Given the description of an element on the screen output the (x, y) to click on. 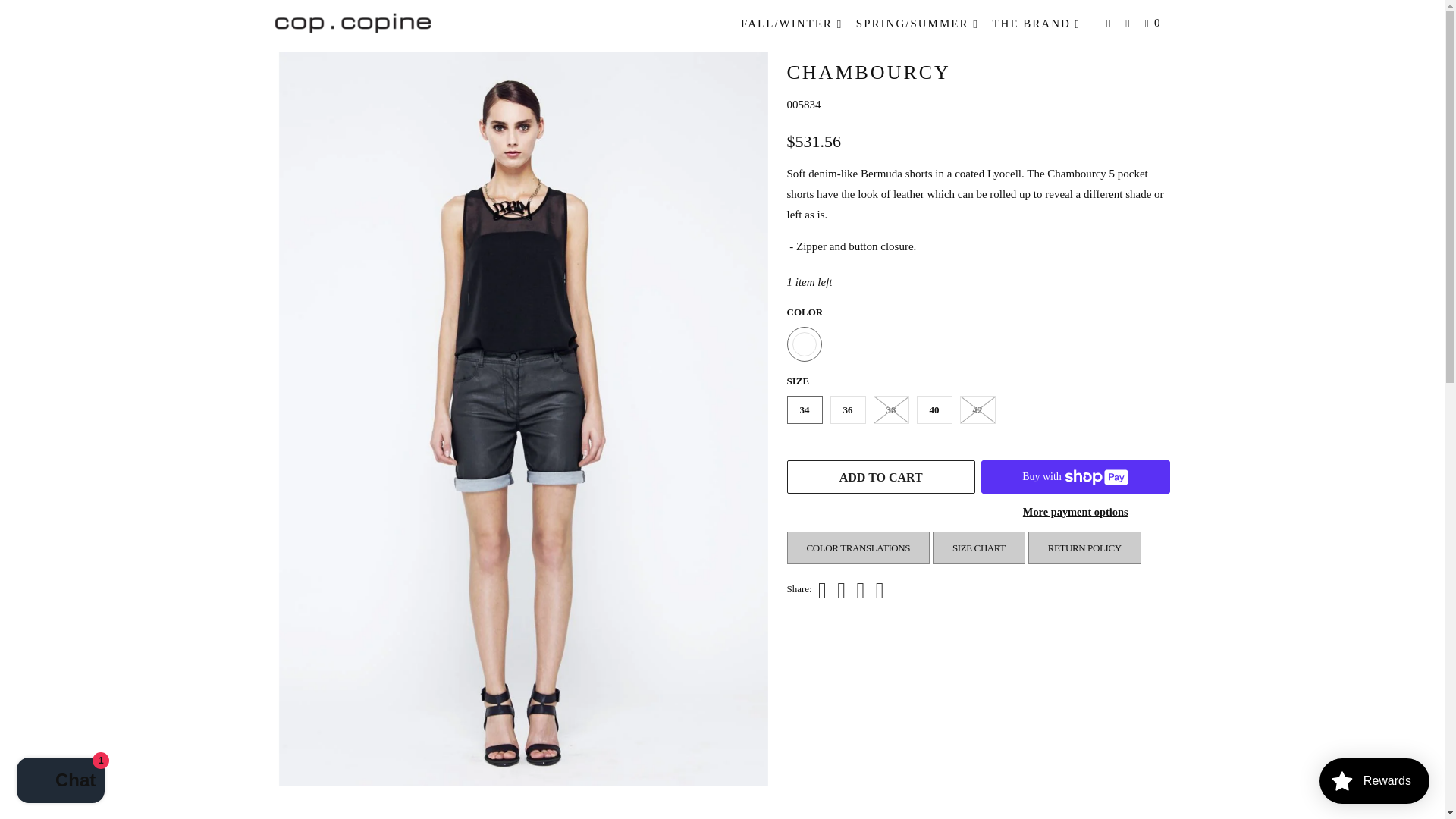
Cop Copine US (287, 30)
Products (327, 30)
Cop Copine US (352, 22)
